Given the description of an element on the screen output the (x, y) to click on. 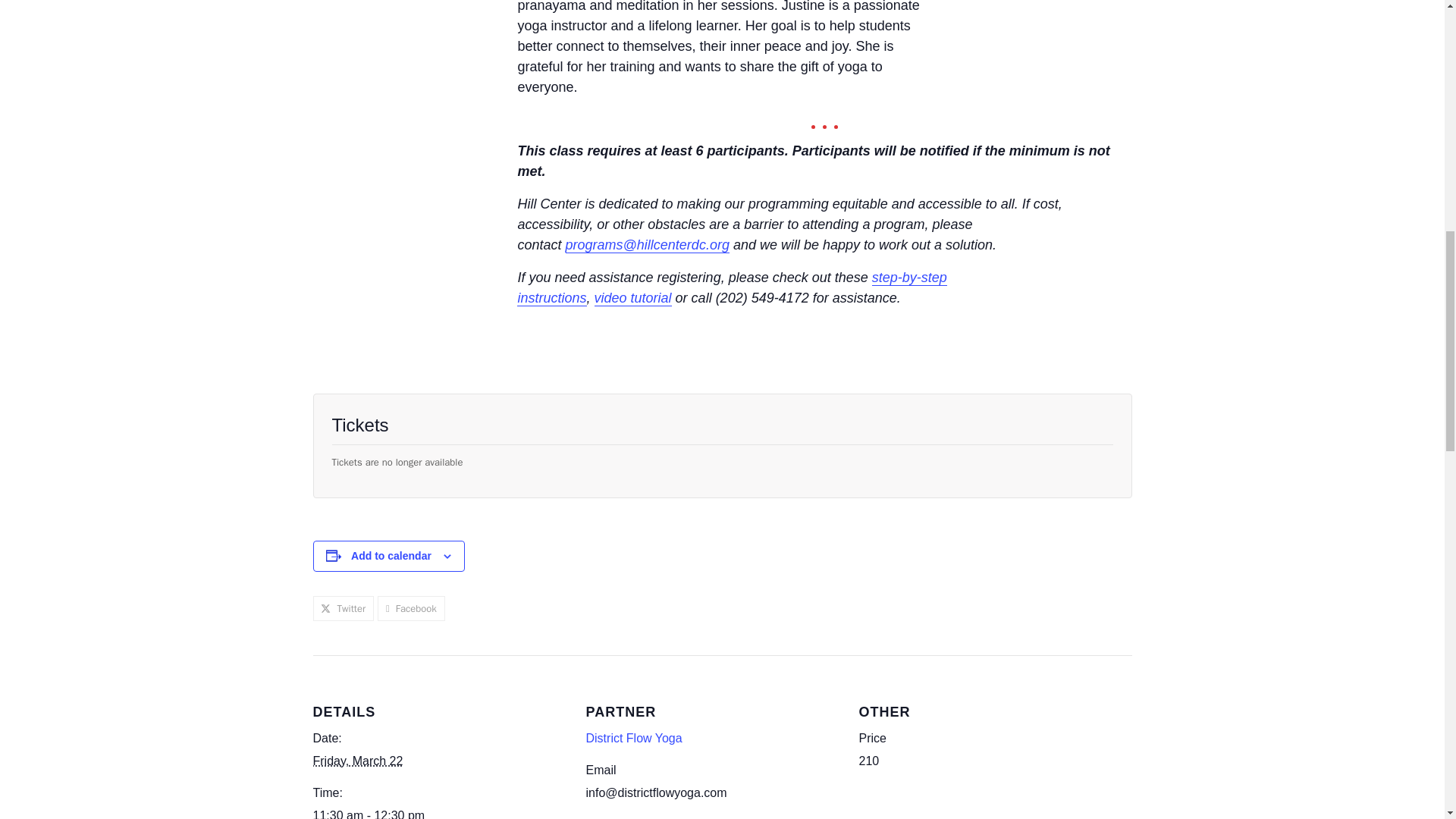
2024-03-22 (358, 760)
District Flow Yoga (633, 738)
2024-03-22 (440, 812)
